Given the description of an element on the screen output the (x, y) to click on. 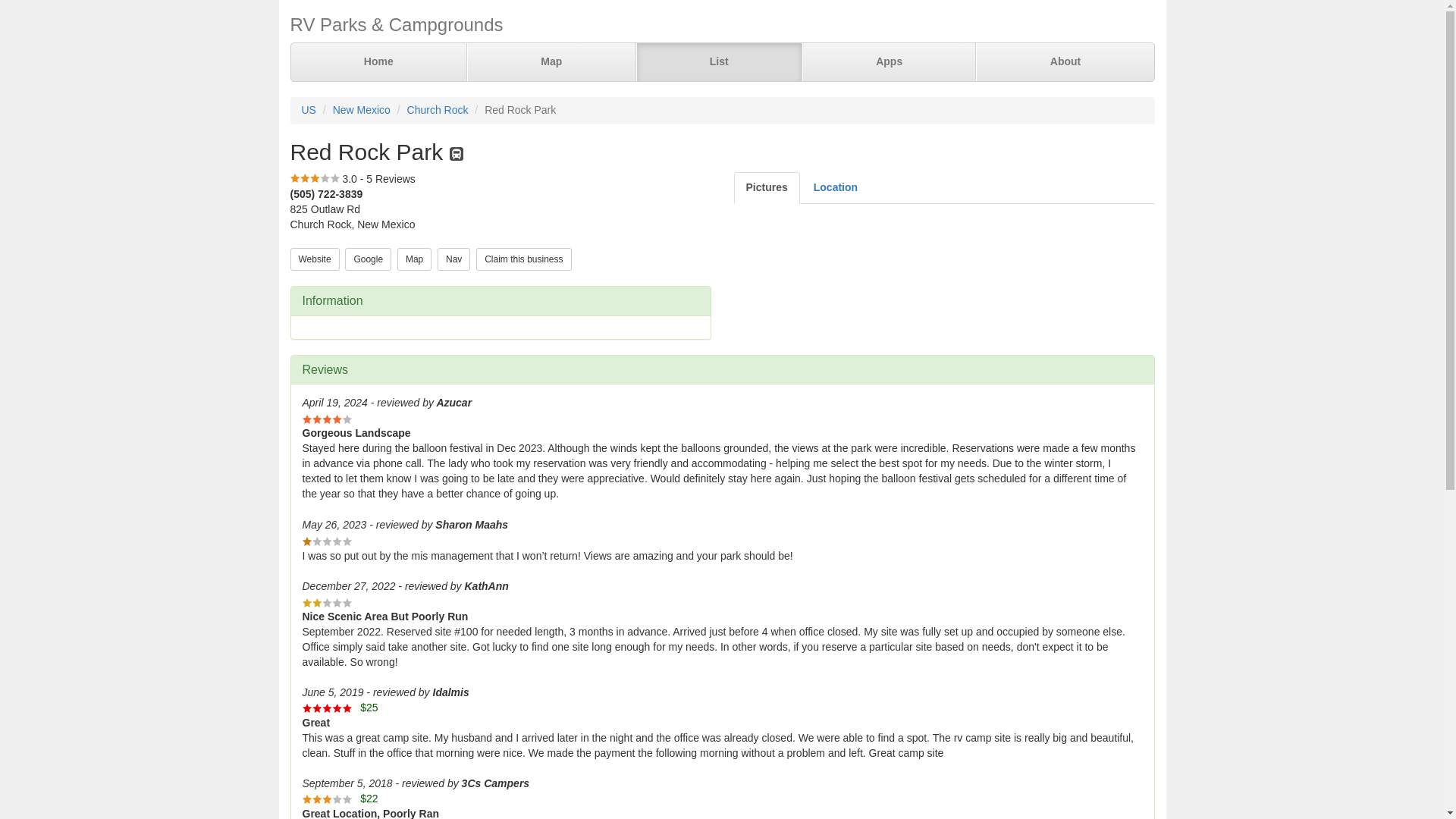
Map (413, 259)
List (718, 62)
About (1064, 62)
Google (368, 258)
Pictures (766, 187)
New Mexico (361, 110)
Nav (454, 259)
US (308, 110)
Claim this business (523, 258)
Apps (889, 62)
